Given the description of an element on the screen output the (x, y) to click on. 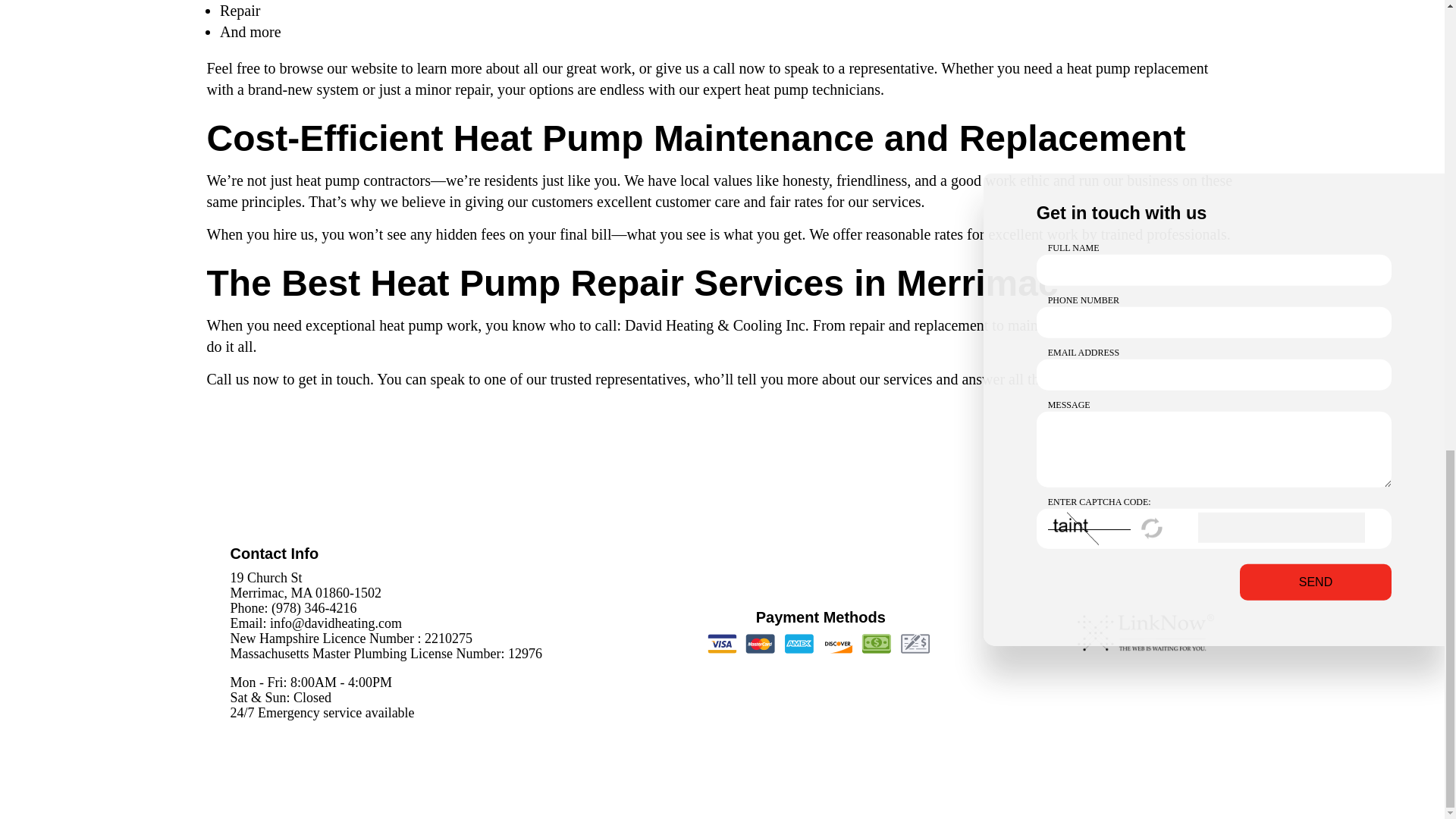
Discover (837, 643)
American Express (799, 643)
Check (915, 643)
Visa (722, 643)
Cash (876, 643)
Mastercard (760, 643)
